Given the description of an element on the screen output the (x, y) to click on. 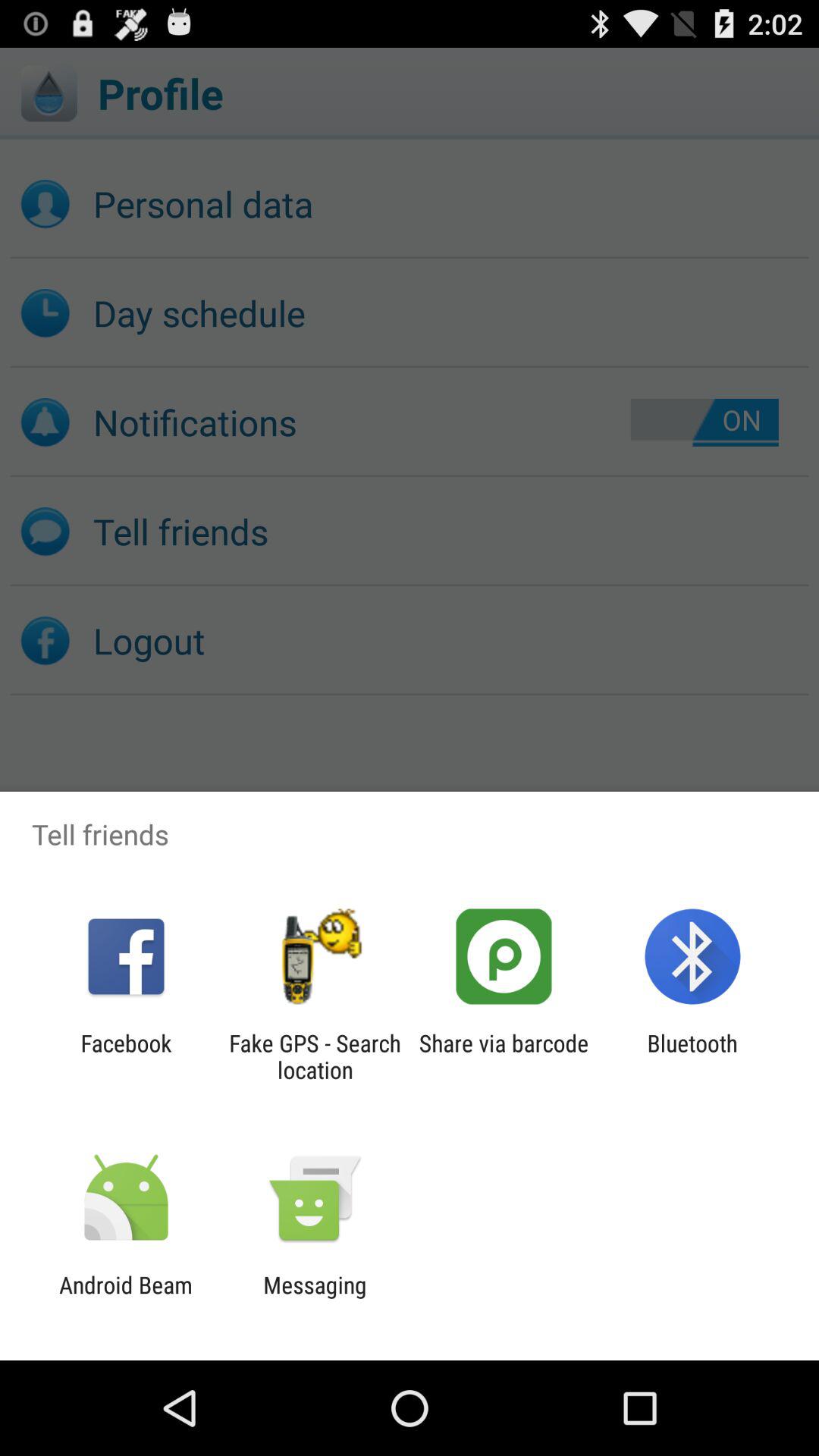
select app to the left of messaging (125, 1298)
